Given the description of an element on the screen output the (x, y) to click on. 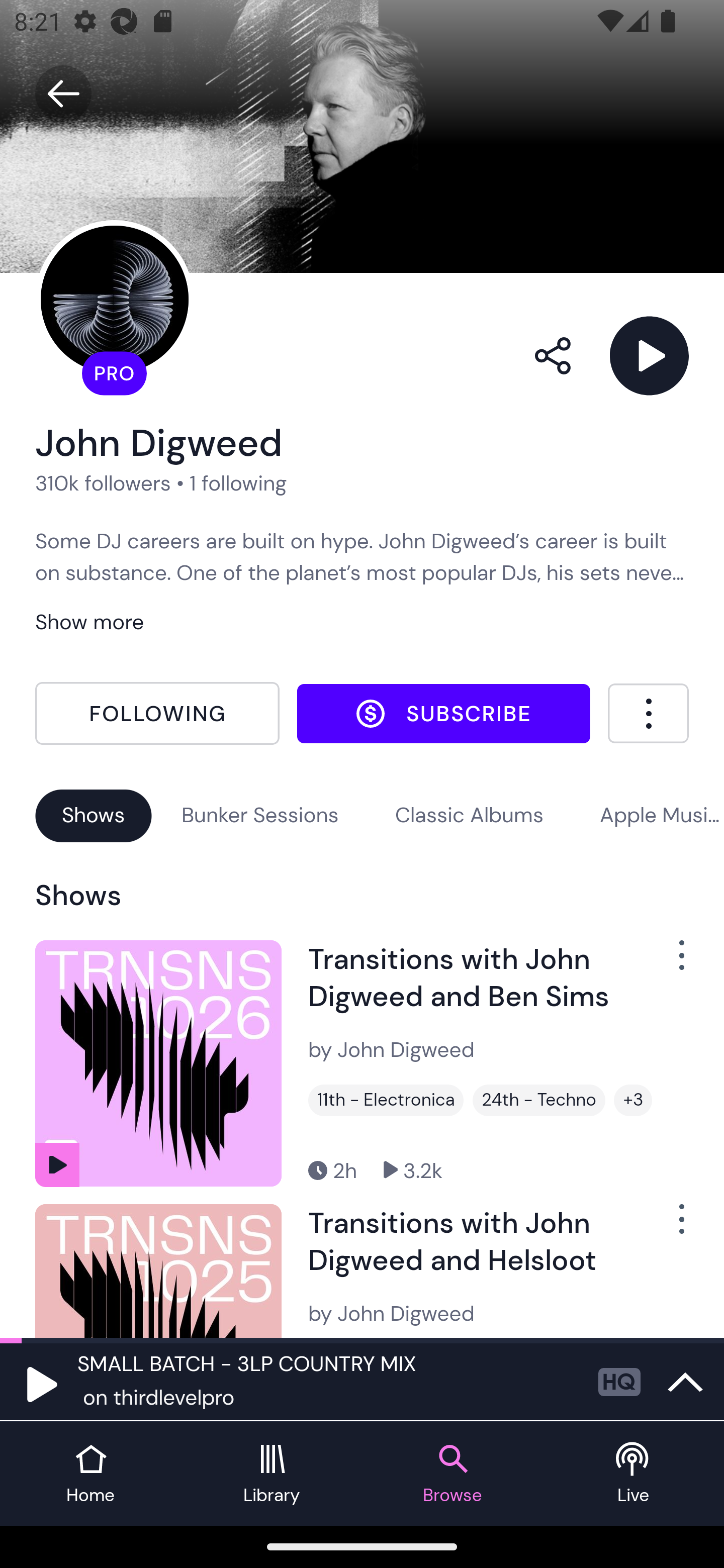
310k followers (102, 482)
1 following (238, 482)
Following FOLLOWING (157, 713)
More Menu (648, 713)
Subscribe SUBSCRIBE (443, 713)
Shows (93, 815)
Bunker Sessions (259, 815)
Classic Albums (469, 815)
Apple Music Compiled and Mixed (661, 815)
Show Options Menu Button (670, 963)
11th - Electronica (385, 1100)
24th - Techno (538, 1100)
Show Options Menu Button (670, 1226)
Home tab Home (90, 1473)
Library tab Library (271, 1473)
Browse tab Browse (452, 1473)
Live tab Live (633, 1473)
